Given the description of an element on the screen output the (x, y) to click on. 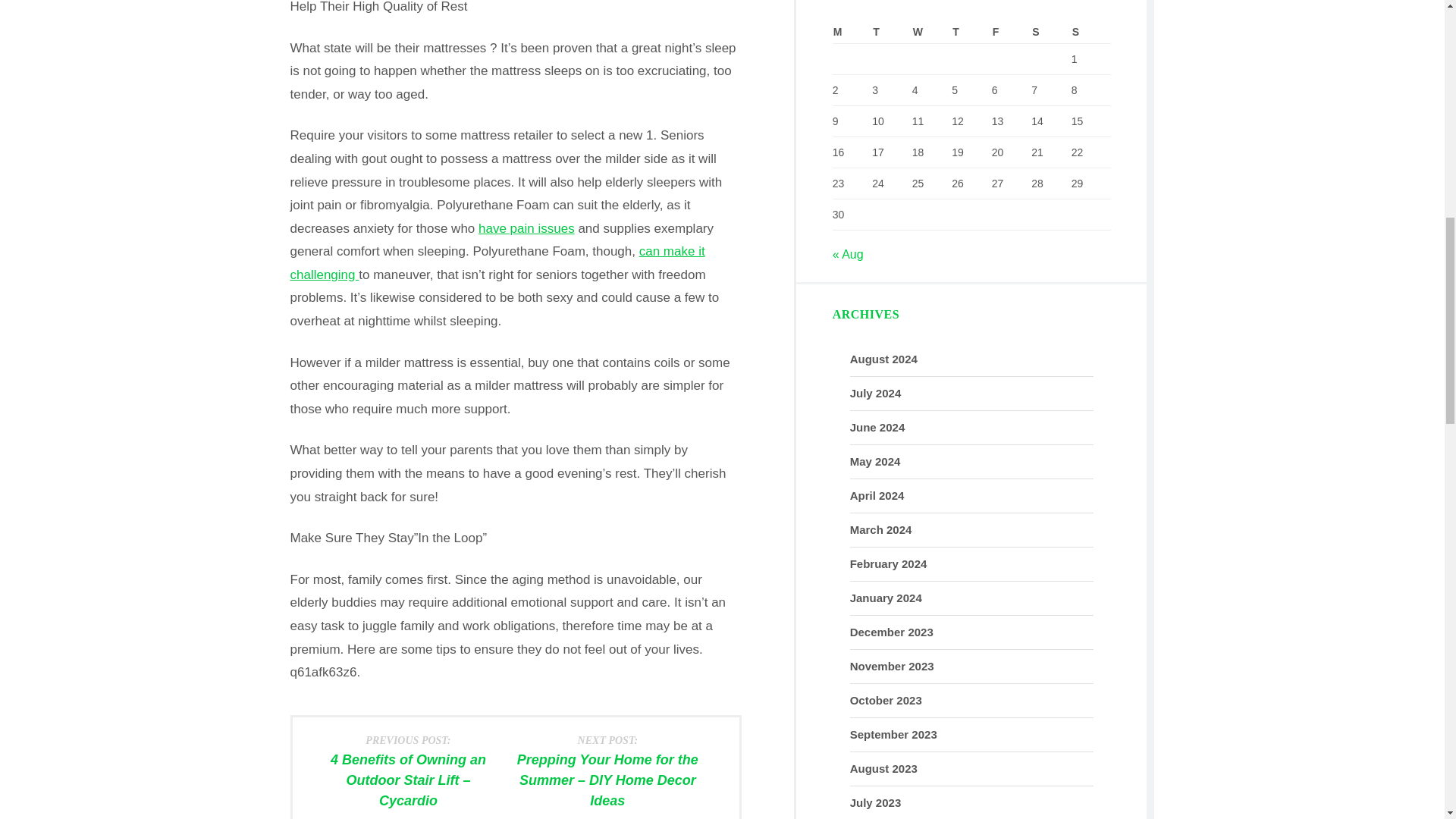
June 2024 (877, 427)
Friday (1011, 32)
August 2023 (883, 768)
have pain issues (527, 228)
Wednesday (932, 32)
can make it challenging (496, 262)
October 2023 (885, 699)
December 2023 (891, 631)
Saturday (1050, 32)
Thursday (971, 32)
